Given the description of an element on the screen output the (x, y) to click on. 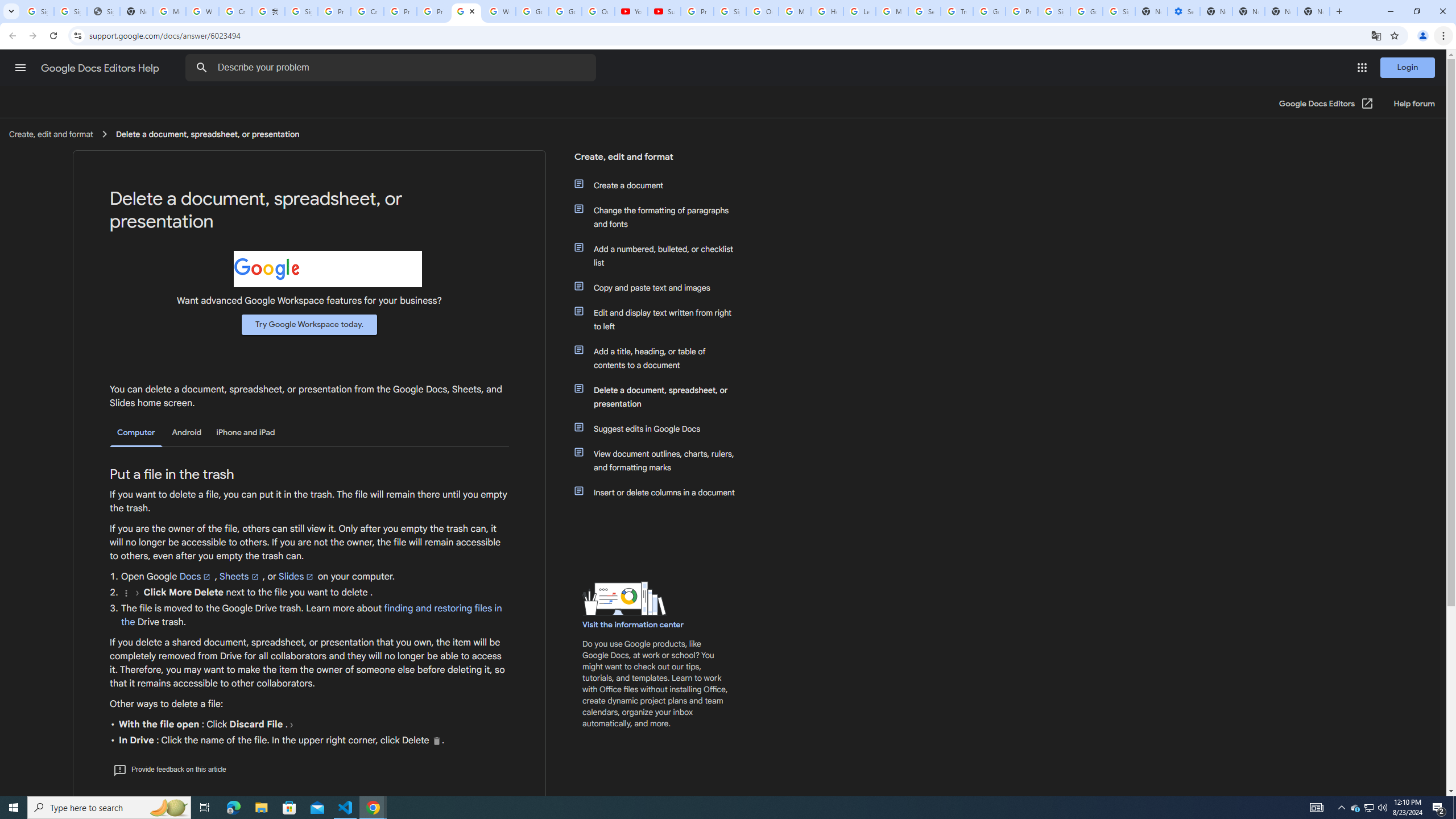
Computer (136, 433)
Delete a document, spreadsheet, or presentation (661, 396)
Help forum (1414, 103)
Subscriptions - YouTube (663, 11)
iPhone and iPad (245, 432)
YouTube (631, 11)
Create a document (661, 185)
To delete (436, 740)
